Given the description of an element on the screen output the (x, y) to click on. 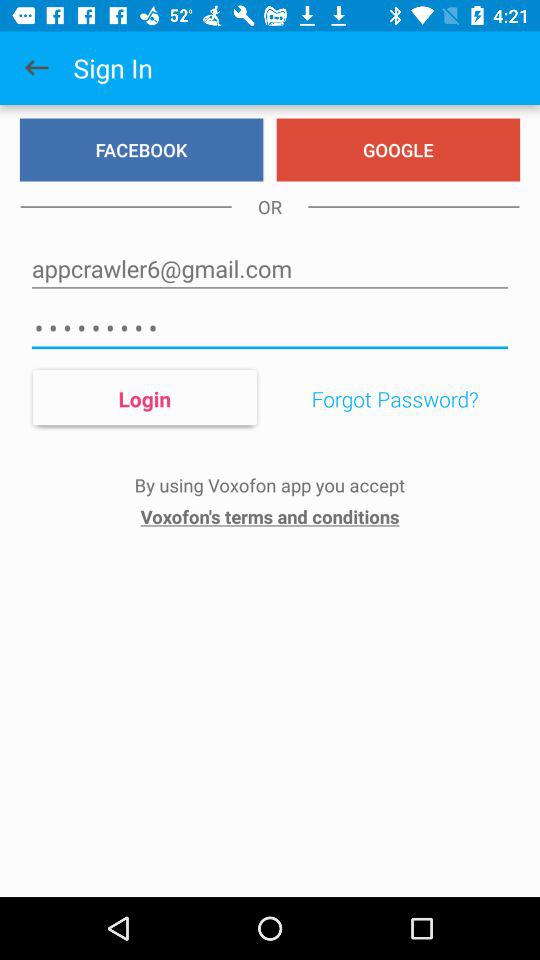
click icon above the login item (269, 328)
